Given the description of an element on the screen output the (x, y) to click on. 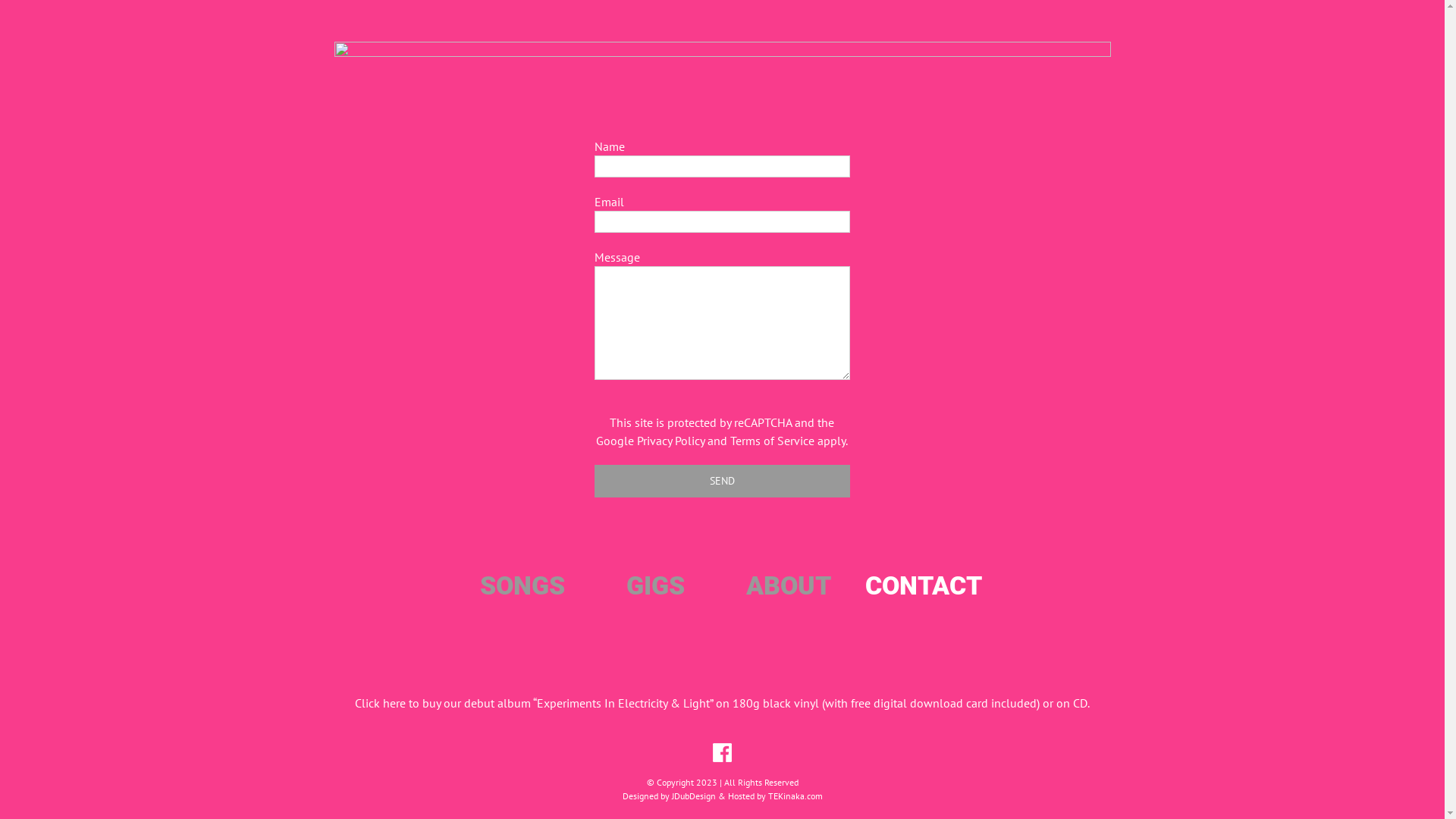
Send Element type: text (722, 480)
TEKinaka.com Element type: text (794, 795)
Terms of Service Element type: text (772, 440)
JDubDesign Element type: text (693, 795)
ABOUT Element type: text (788, 585)
SONGS Element type: text (522, 585)
Privacy Policy Element type: text (670, 440)
GIGS Element type: text (655, 585)
